Given the description of an element on the screen output the (x, y) to click on. 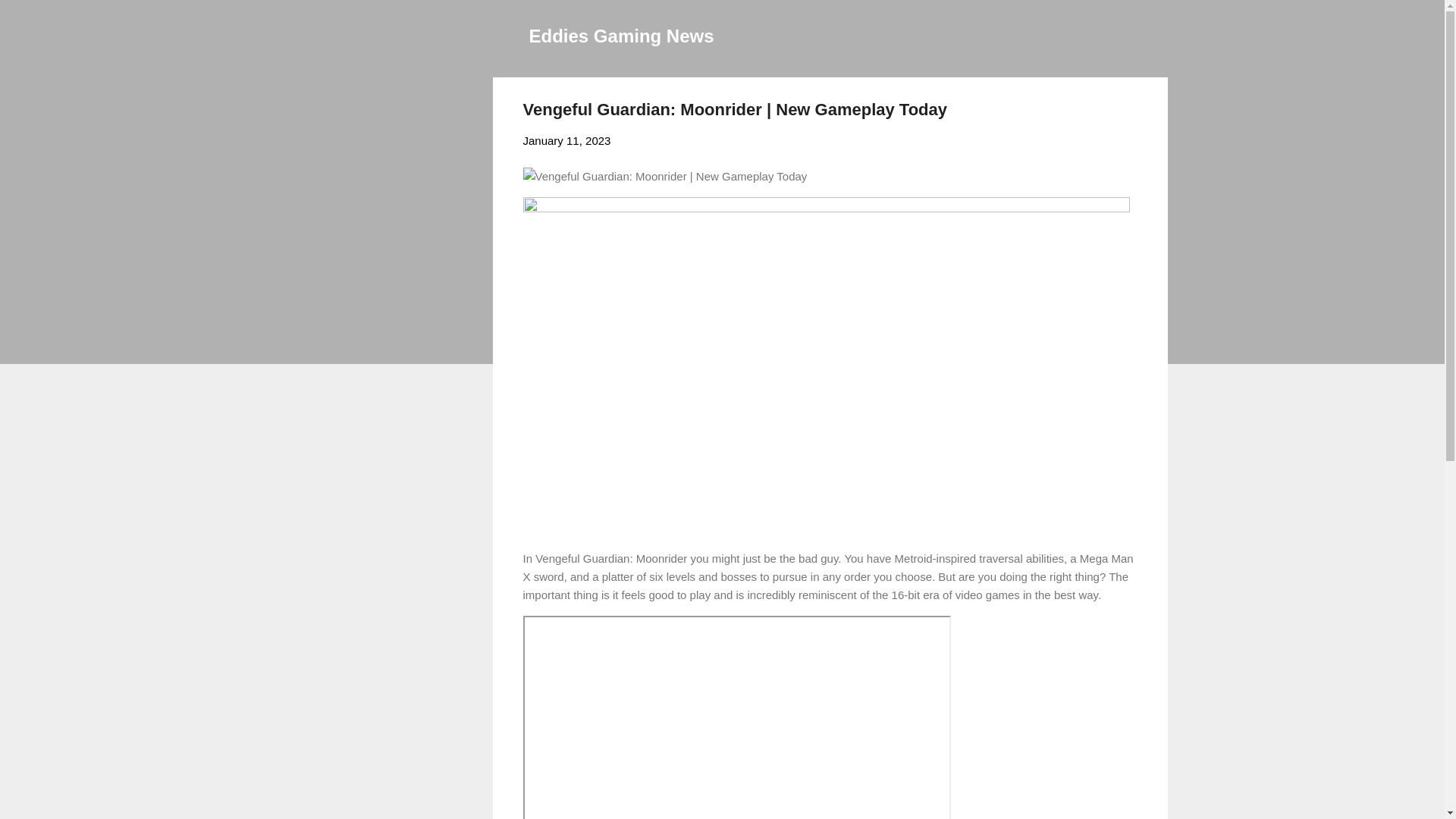
Search (29, 18)
permanent link (566, 140)
January 11, 2023 (566, 140)
Eddies Gaming News (621, 35)
